Given the description of an element on the screen output the (x, y) to click on. 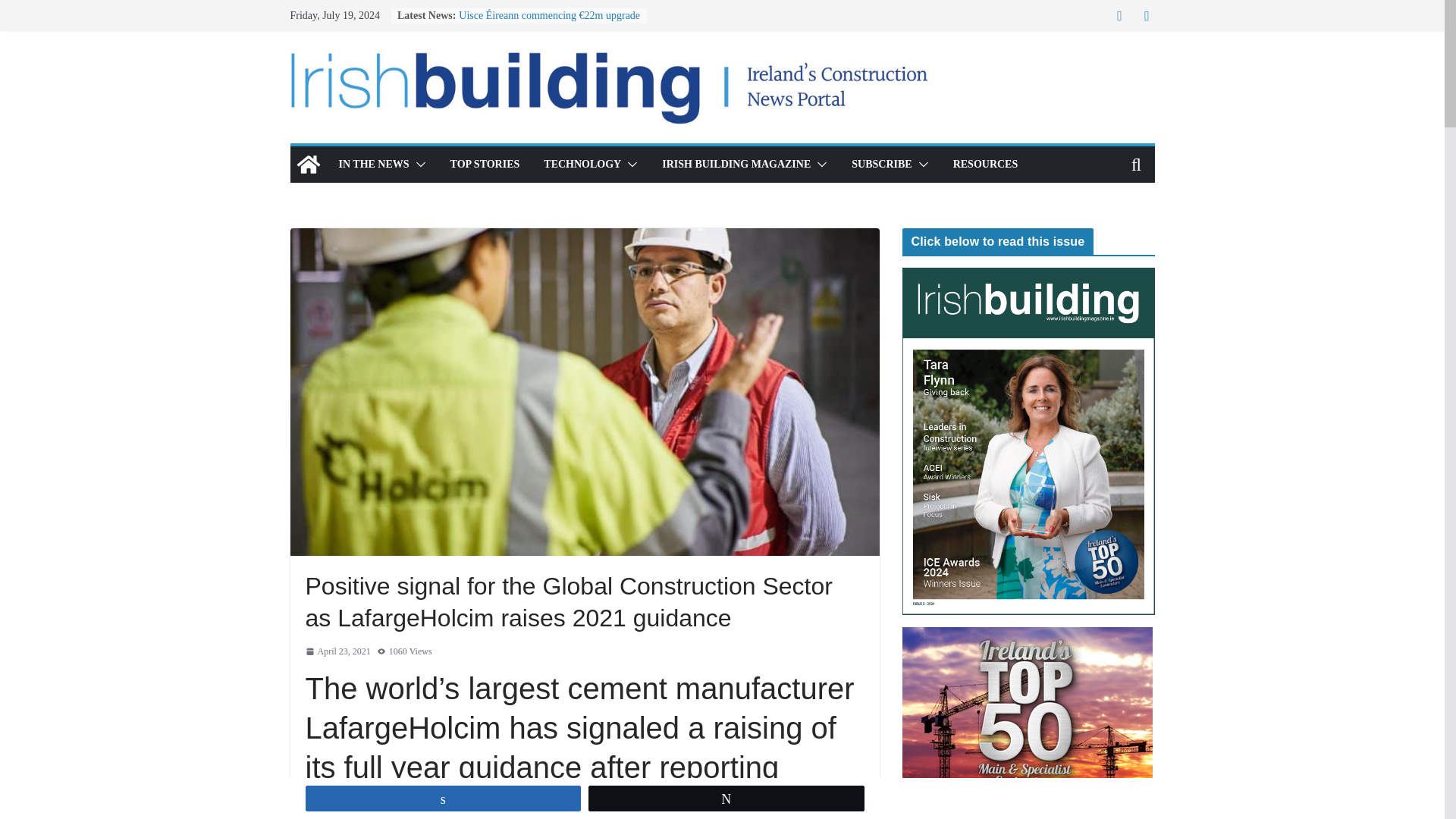
IN THE NEWS (373, 164)
April 23, 2021 (336, 651)
11:29 am (336, 651)
SUBSCRIBE (881, 164)
RESOURCES (985, 164)
IRISH BUILDING MAGAZINE (736, 164)
TECHNOLOGY (582, 164)
TOP STORIES (484, 164)
Irish building magazine (307, 164)
